Given the description of an element on the screen output the (x, y) to click on. 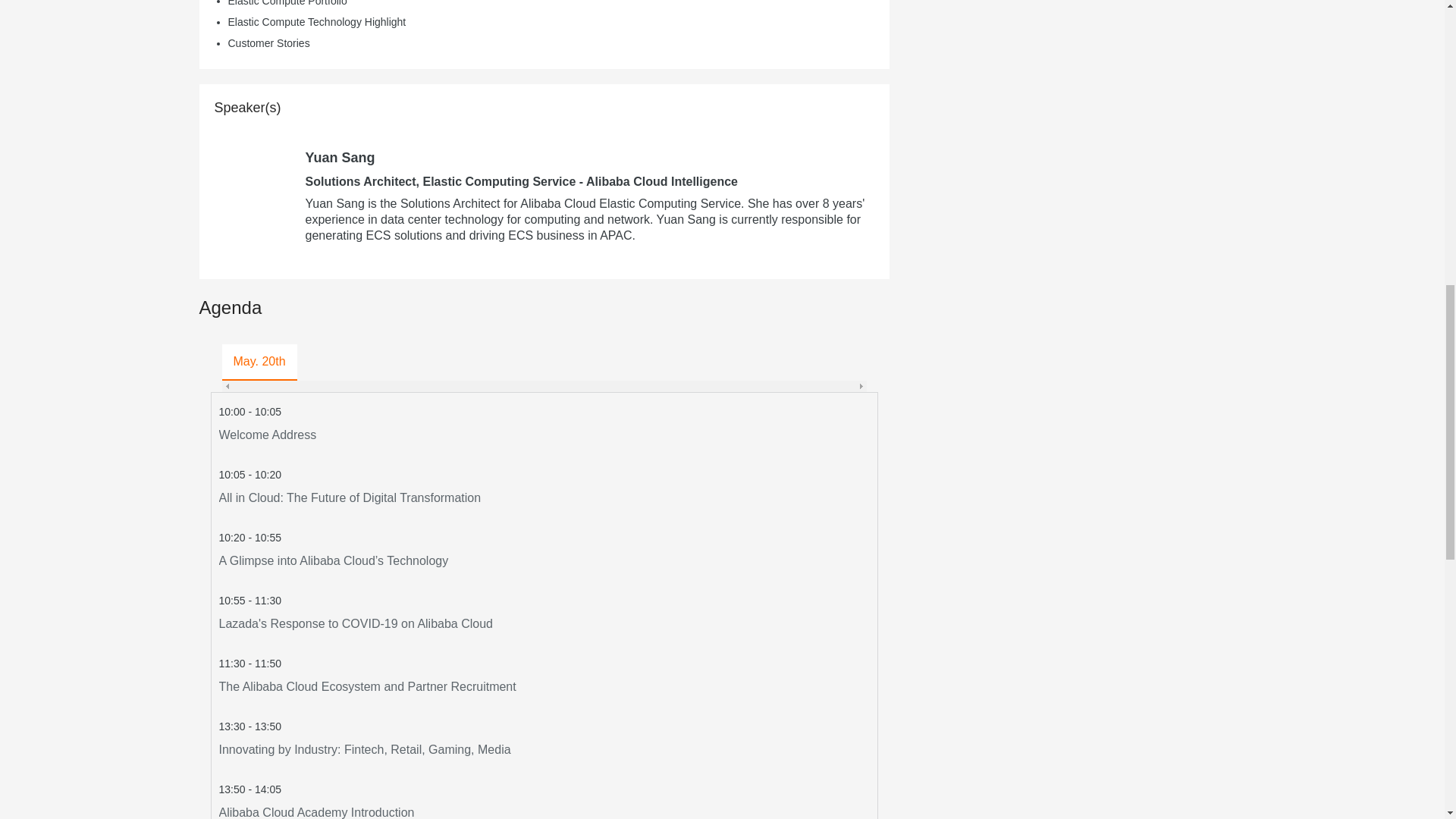
May. 20th (259, 362)
May. 20th (543, 794)
